Given the description of an element on the screen output the (x, y) to click on. 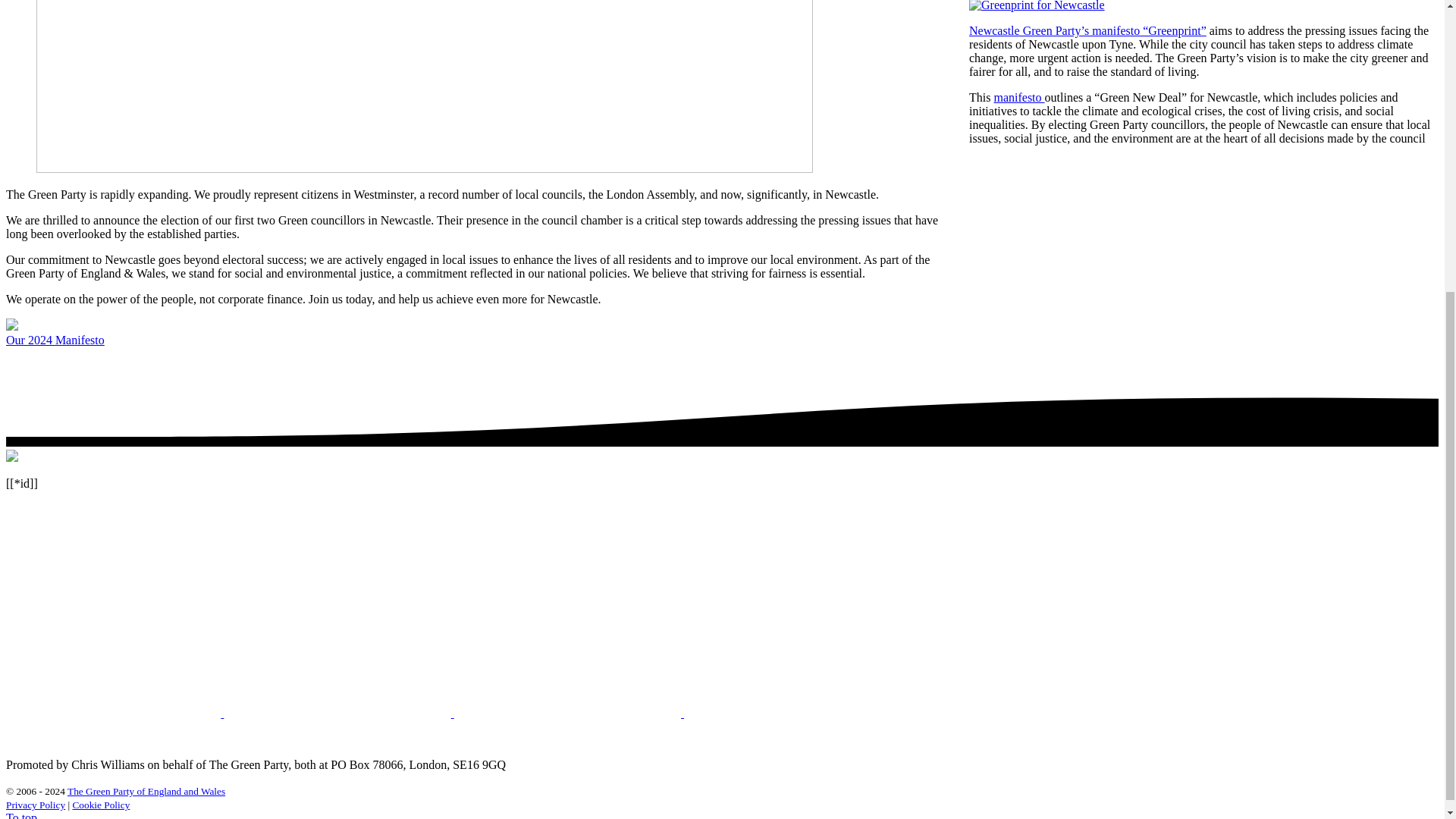
GreenPrint (1037, 6)
Our 2024 Manifesto (54, 339)
The Green Party of England and Wales (145, 790)
Cookie Policy (100, 804)
Privacy Policy (35, 804)
manifesto (1017, 97)
